Given the description of an element on the screen output the (x, y) to click on. 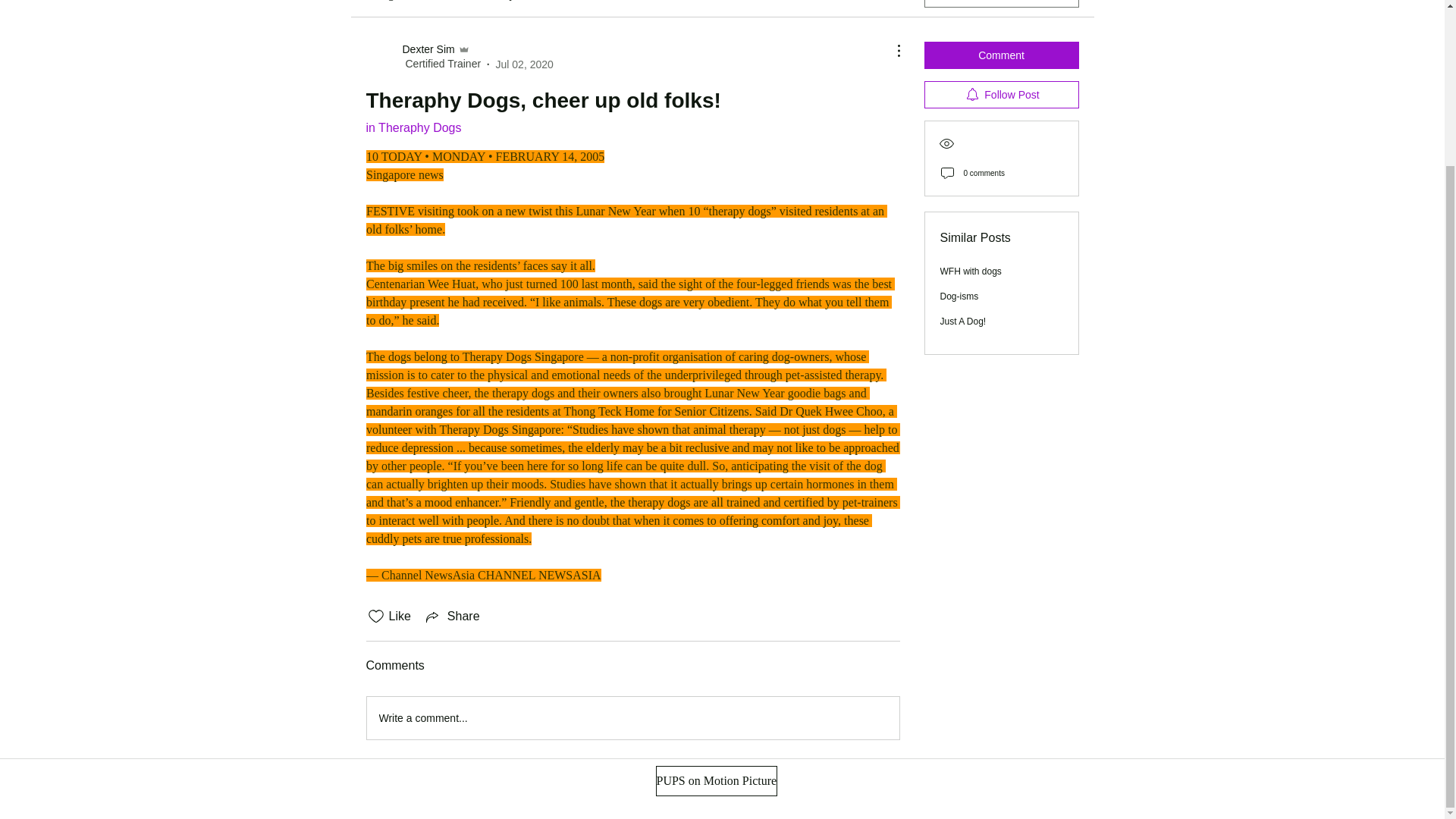
in Theraphy Dogs (413, 127)
Categories (390, 1)
Share (451, 616)
My Posts (520, 1)
All Posts (457, 1)
Write a comment... (632, 717)
